Given the description of an element on the screen output the (x, y) to click on. 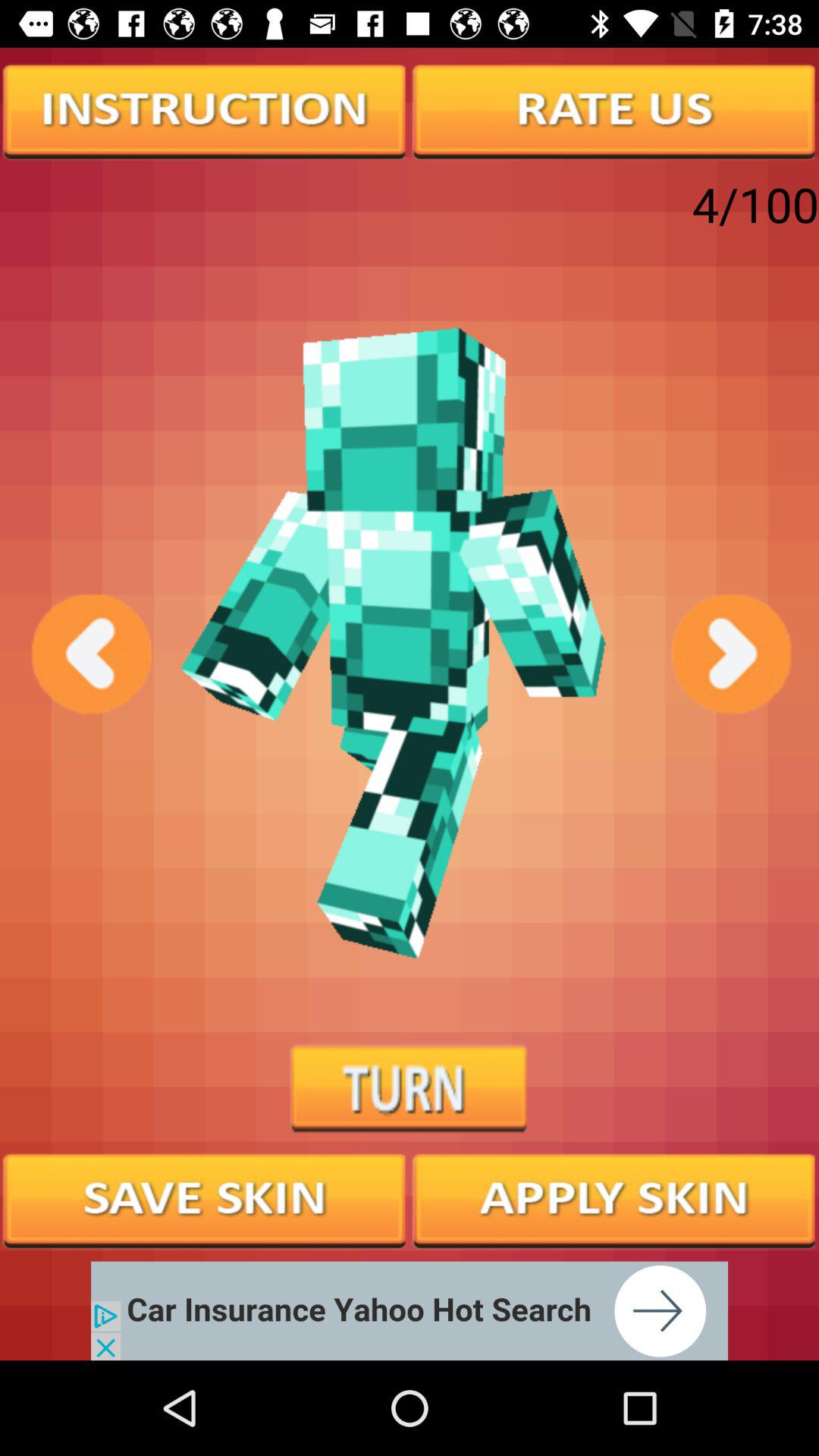
go to next (729, 654)
